Given the description of an element on the screen output the (x, y) to click on. 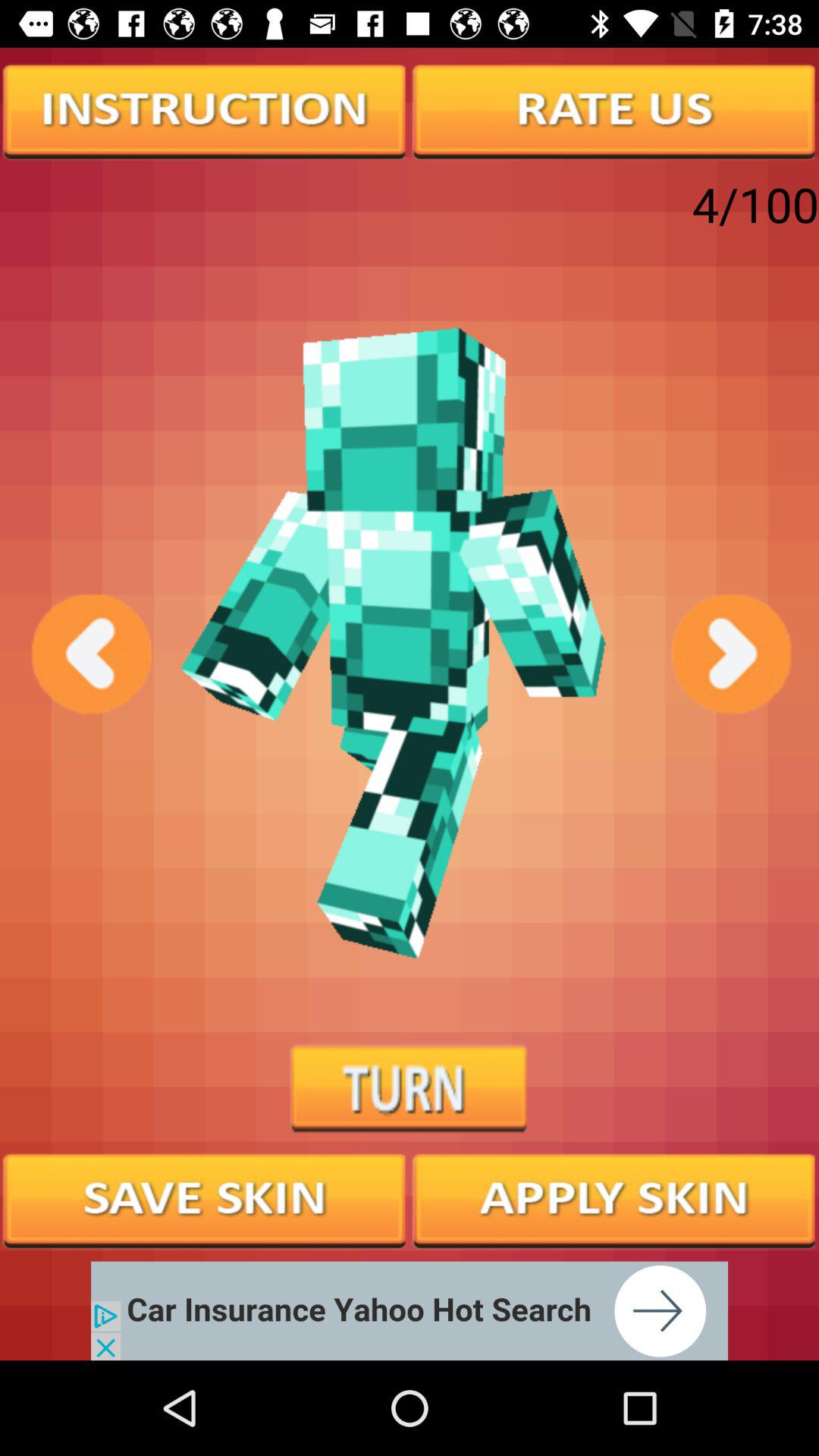
go to next (729, 654)
